Given the description of an element on the screen output the (x, y) to click on. 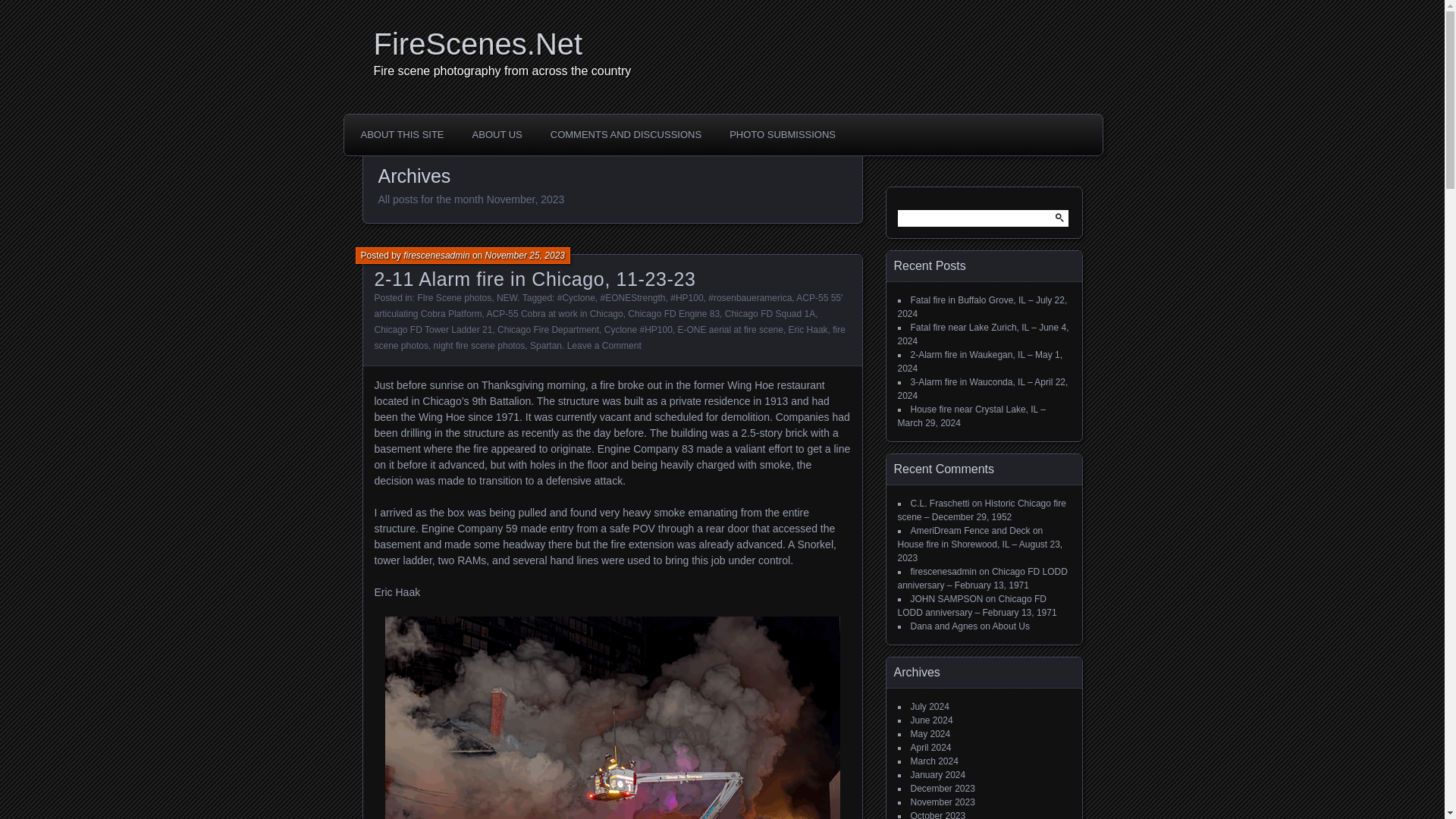
ABOUT US (497, 134)
Leave a Comment (604, 345)
PHOTO SUBMISSIONS (782, 134)
November 25, 2023 (524, 255)
night fire scene photos (479, 345)
Chicago FD Squad 1A (770, 313)
E-ONE aerial at fire scene (730, 329)
FireScenes.Net (726, 44)
ACP-55 55' articulating Cobra Platform (608, 305)
COMMENTS AND DISCUSSIONS (625, 134)
